Given the description of an element on the screen output the (x, y) to click on. 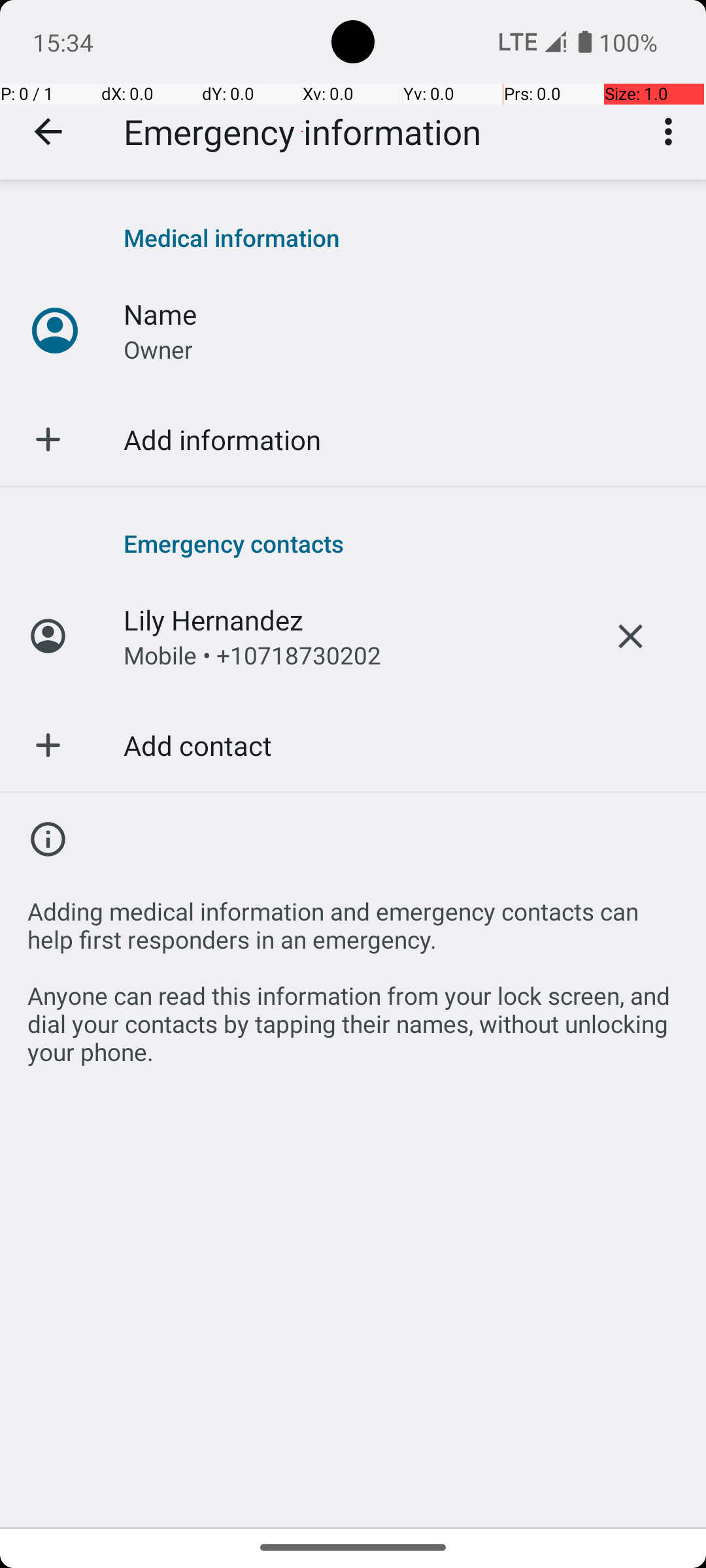
Emergency information Element type: android.widget.TextView (302, 131)
Medical information Element type: android.widget.TextView (400, 237)
Owner Element type: android.widget.TextView (157, 348)
Add information Element type: android.widget.TextView (221, 438)
Emergency contacts Element type: android.widget.TextView (400, 542)
Lily Hernandez Element type: android.widget.TextView (213, 619)
Mobile • +10718730202 Element type: android.widget.TextView (252, 654)
Remove contact Element type: android.widget.ImageView (630, 636)
Add contact Element type: android.widget.TextView (197, 744)
Adding medical information and emergency contacts can help first responders in an emergency.

Anyone can read this information from your lock screen, and dial your contacts by tapping their names, without unlocking your phone. Element type: android.widget.TextView (352, 973)
